Given the description of an element on the screen output the (x, y) to click on. 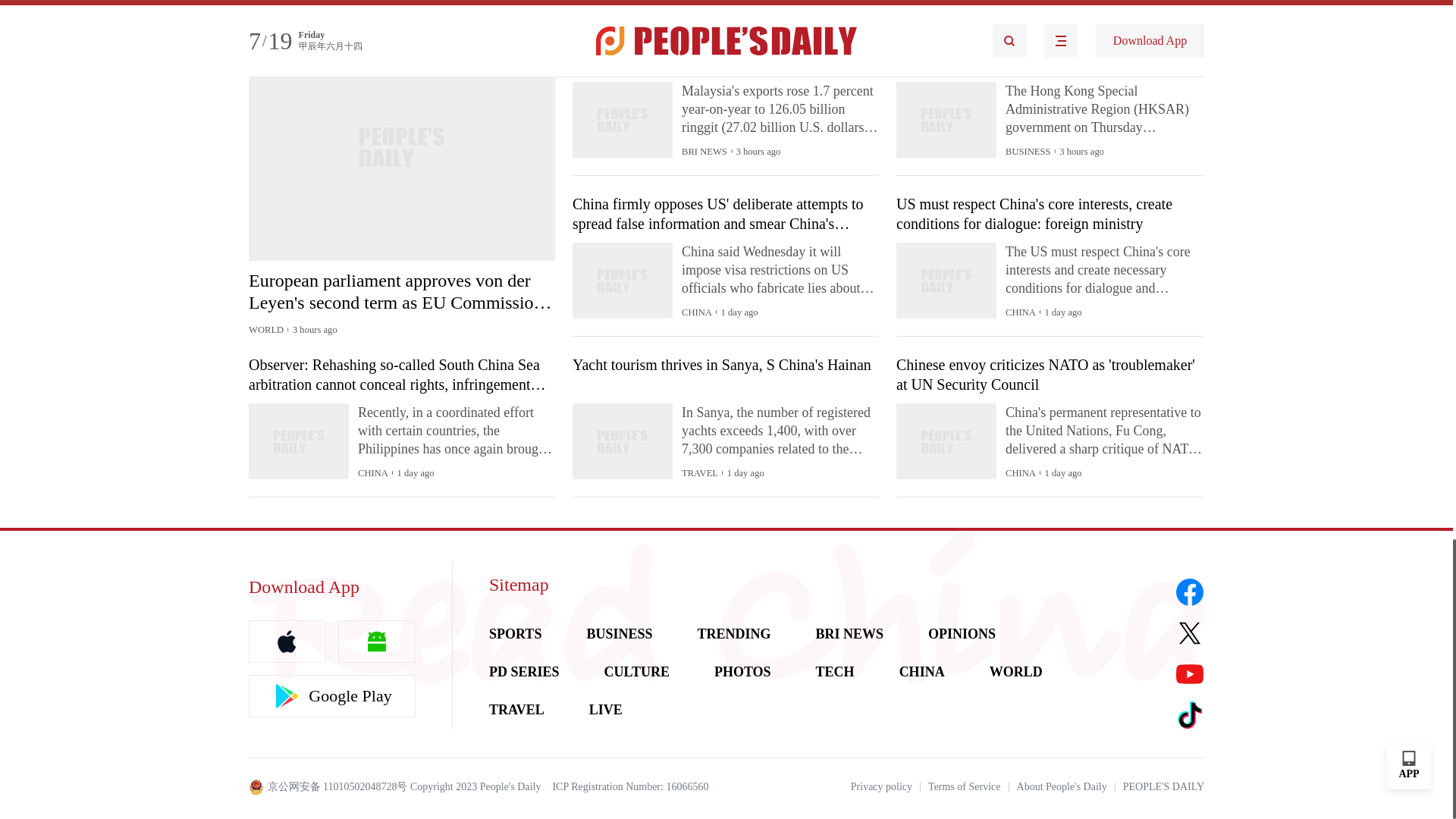
PEOPLE'S DAILY (1163, 787)
Terms of Service (964, 787)
About People's Daily (1061, 787)
Privacy policy (881, 787)
ICP Registration Number: 16066560 (629, 786)
Google Play (331, 695)
